Given the description of an element on the screen output the (x, y) to click on. 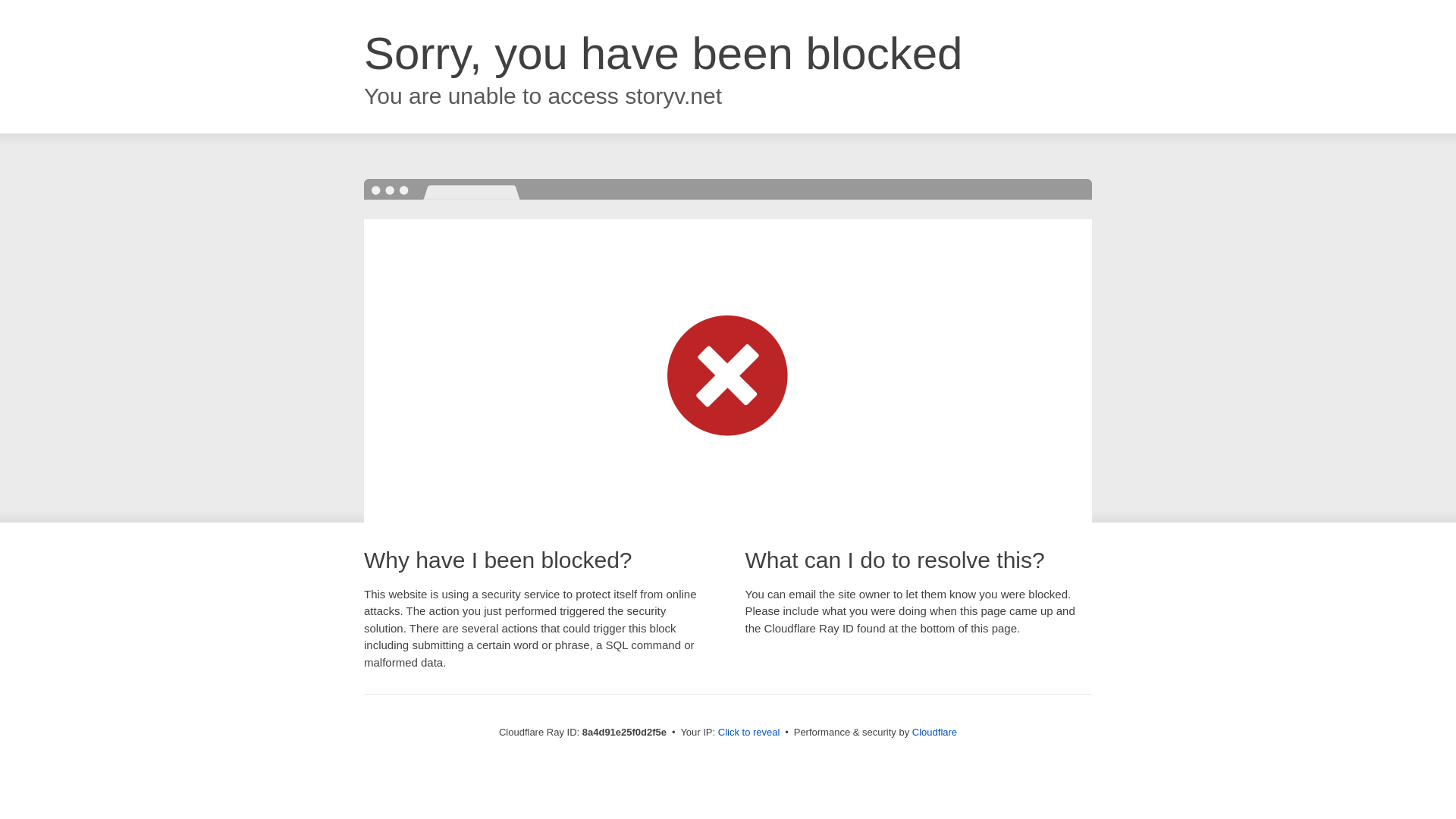
Cloudflare (934, 731)
Click to reveal (748, 732)
